Given the description of an element on the screen output the (x, y) to click on. 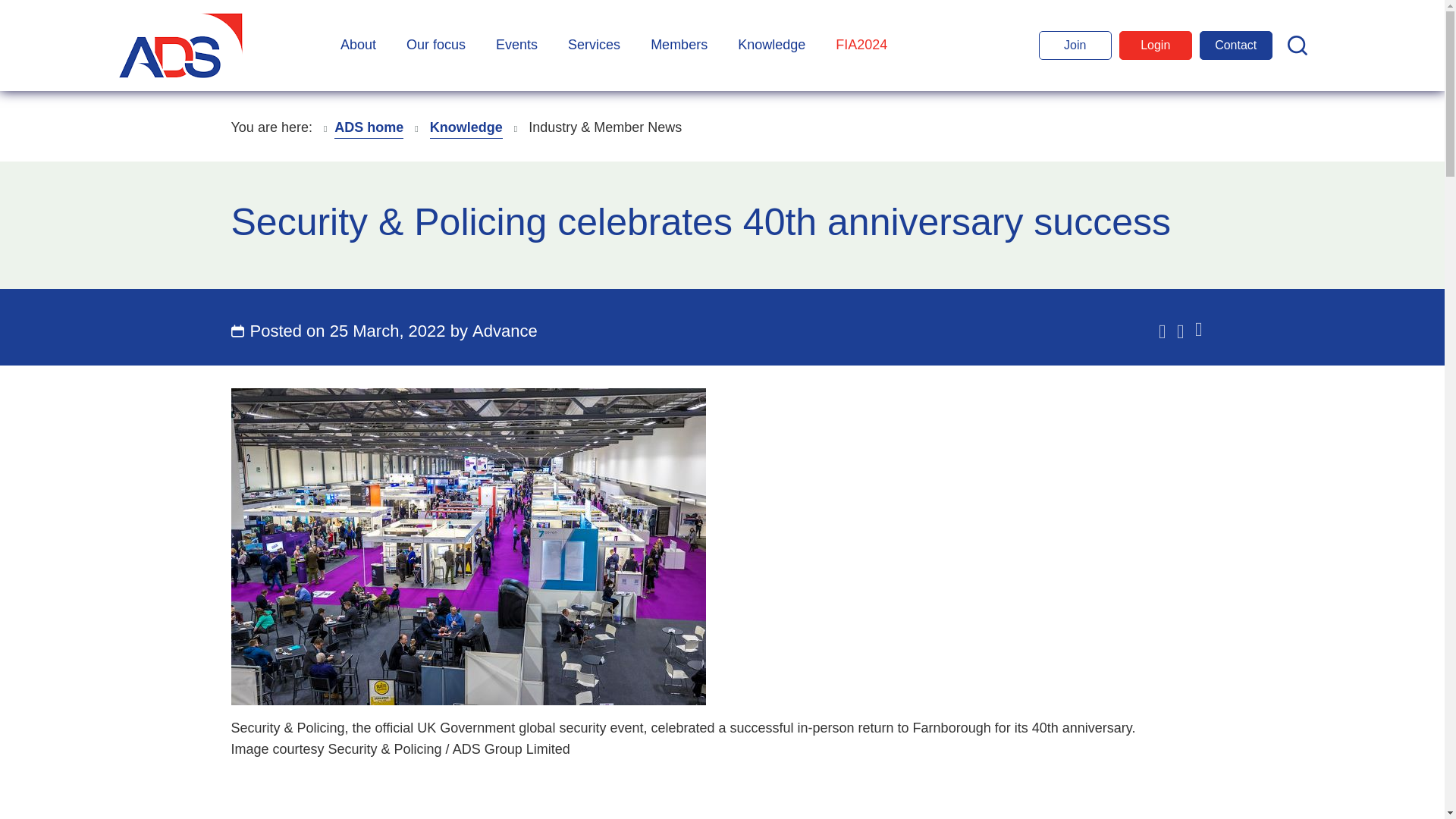
About (357, 44)
Our focus (435, 44)
Events (516, 44)
